Given the description of an element on the screen output the (x, y) to click on. 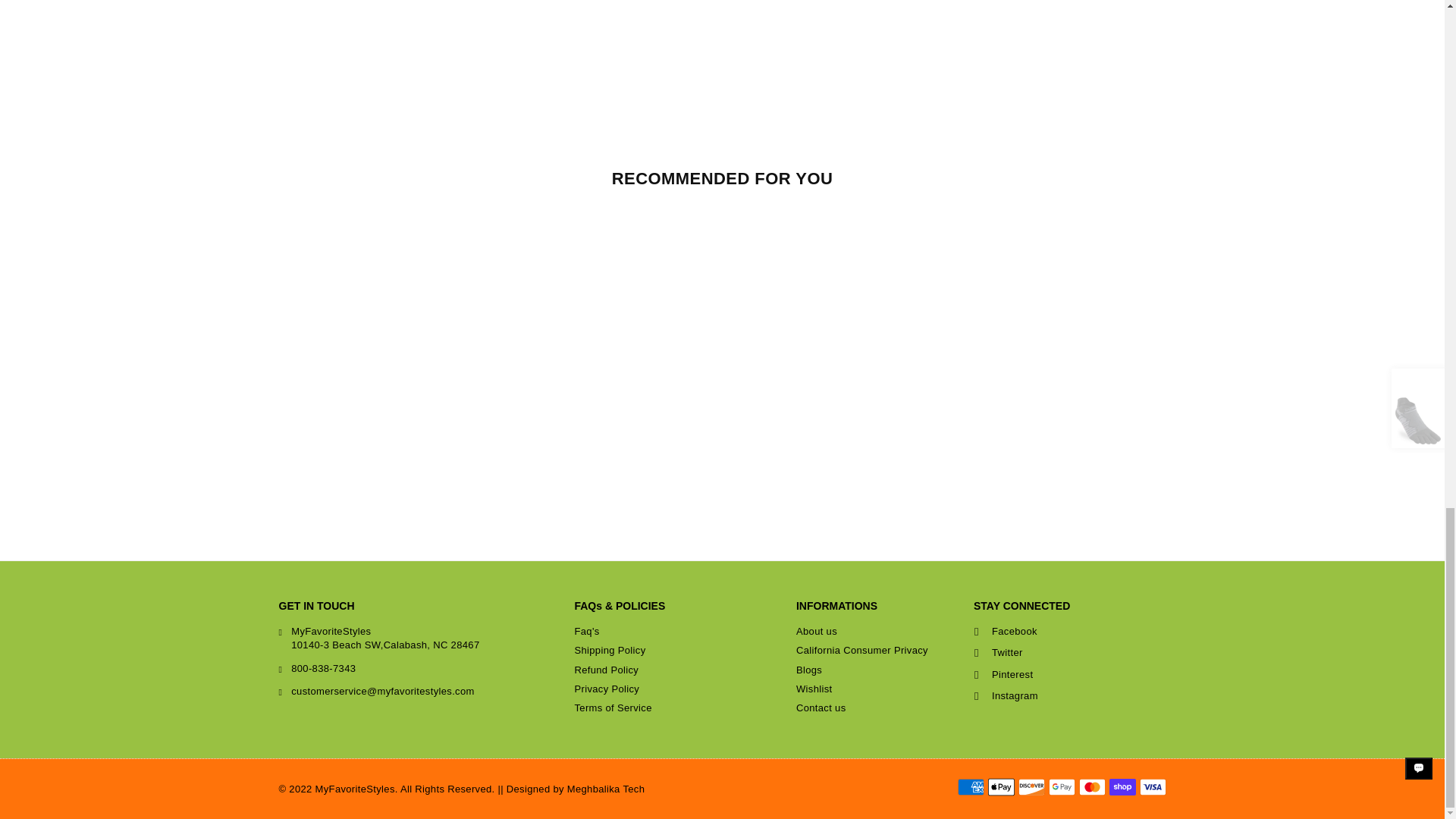
American Express (970, 787)
Apple Pay (1000, 787)
Mastercard (1091, 787)
Shop Pay (1121, 787)
Google Pay (1061, 787)
Discover (1030, 787)
Visa (1152, 787)
